Given the description of an element on the screen output the (x, y) to click on. 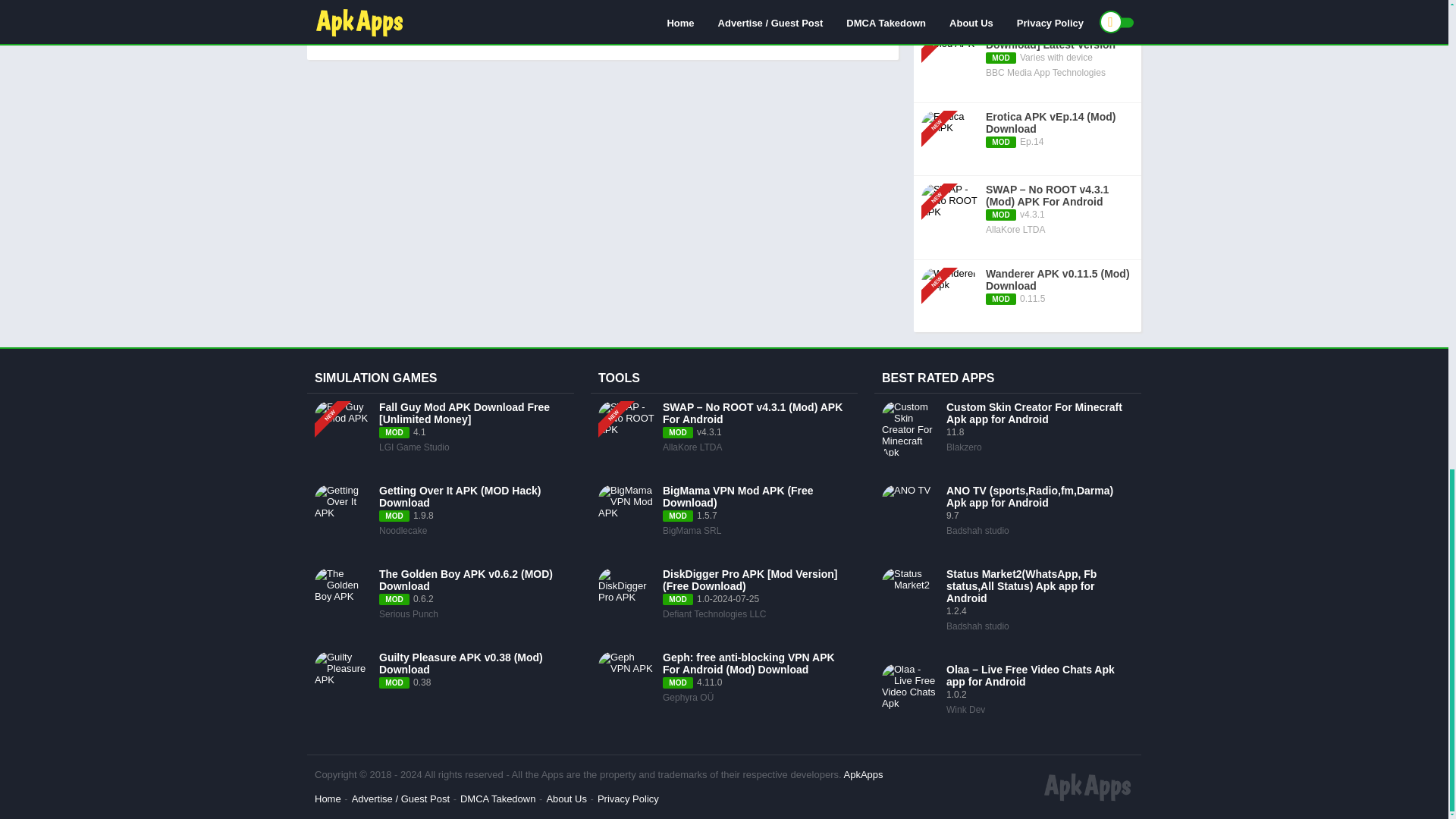
New (941, 104)
Download Debt Collector in the Wild West Apk app for Android (718, 36)
debt collector in the wild west apk download (438, 14)
Download Debt Collector in the Wild West Apk (441, 36)
New (941, 177)
New (618, 395)
New (941, 261)
New (941, 20)
debt collector in the wild west apk free download (678, 14)
